Given the description of an element on the screen output the (x, y) to click on. 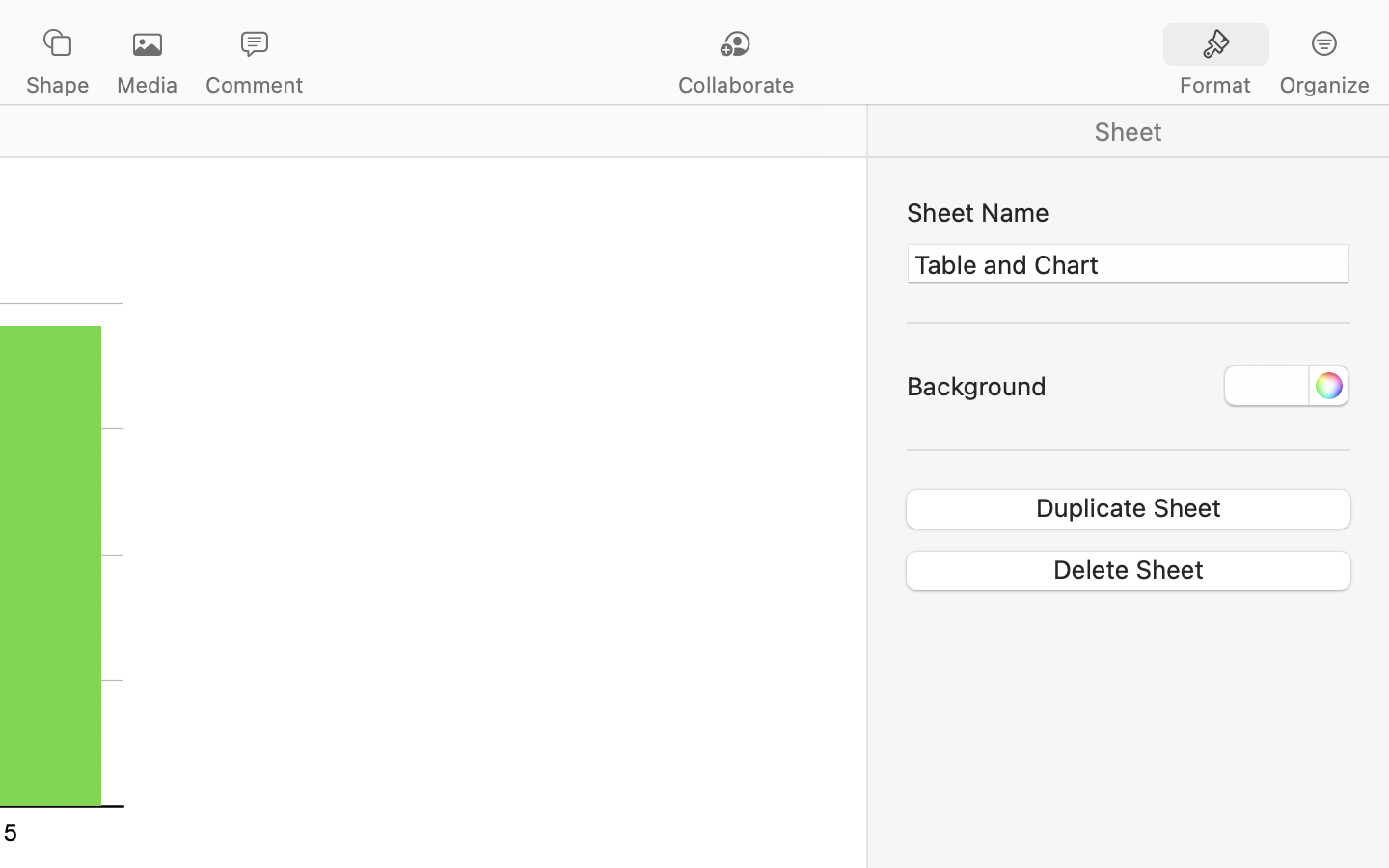
Table and Chart Element type: AXTextField (1128, 263)
Format Element type: AXStaticText (1215, 84)
